Given the description of an element on the screen output the (x, y) to click on. 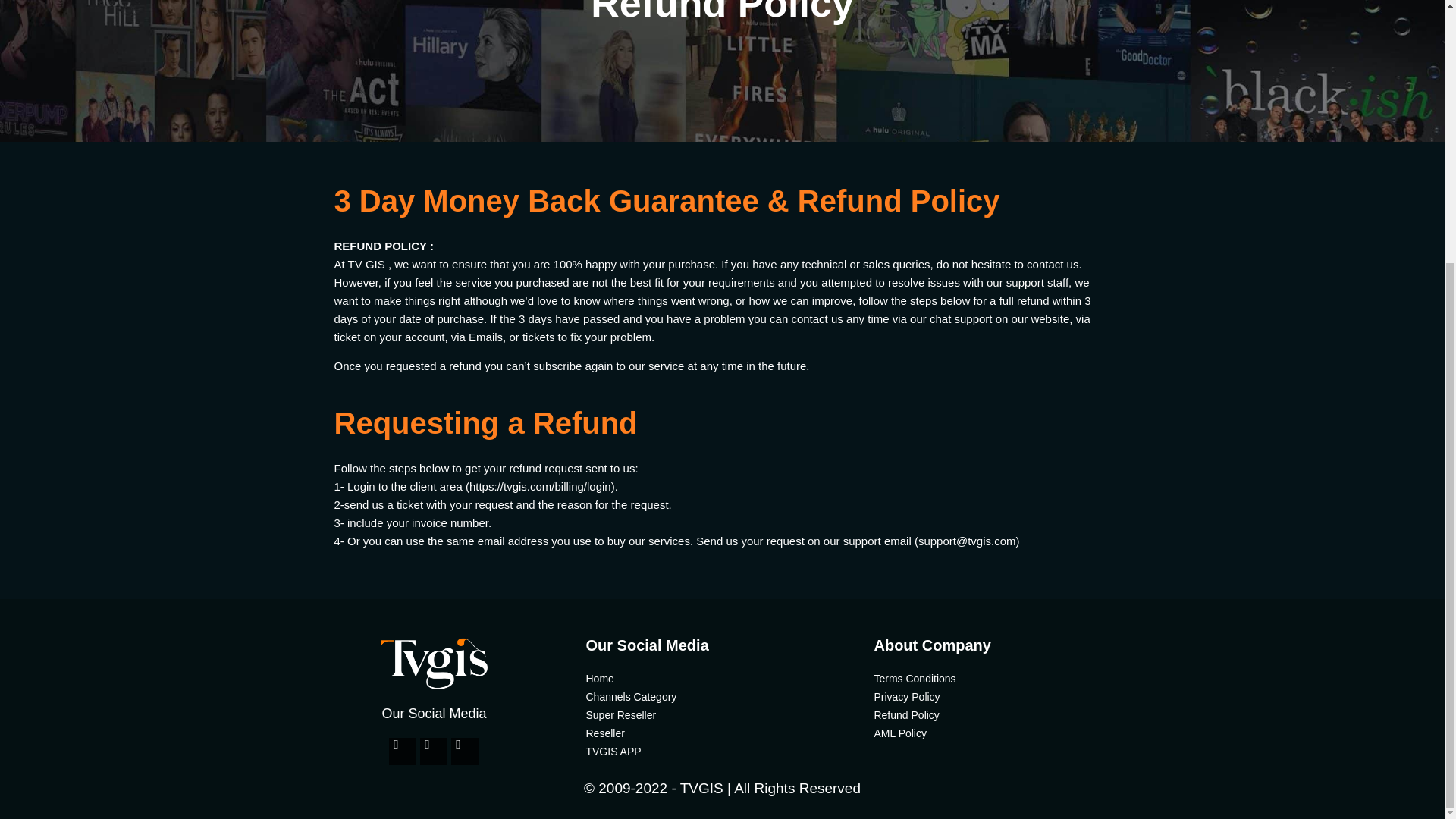
Refund Policy (1010, 714)
Privacy Policy (1010, 696)
Terms Conditions (1010, 678)
Reseller (722, 732)
TVGIS APP (722, 751)
AML Policy (1010, 732)
Super Reseller (722, 714)
Channels Category (722, 696)
Home (722, 678)
